Given the description of an element on the screen output the (x, y) to click on. 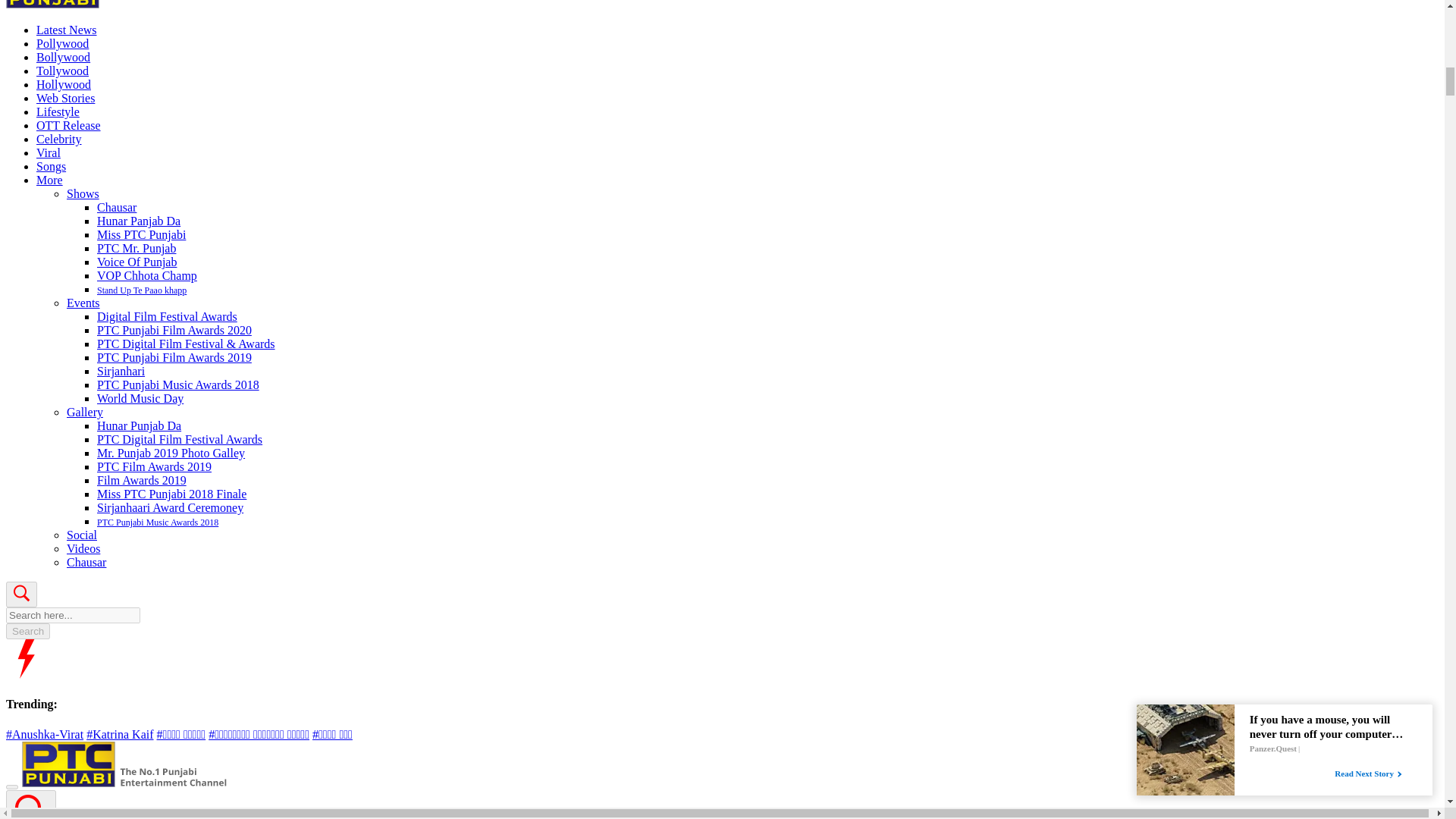
OTT Release (68, 124)
Celebrity (58, 138)
PTC Film Awards 2019 (154, 466)
Tollywood (62, 70)
Chausar (116, 206)
VOP Chhota Champ (146, 275)
World Music Day (140, 398)
More (49, 179)
PTC Punjabi Music Awards 2018 (178, 384)
Bollywood (63, 56)
Hunar Panjab Da (138, 220)
Hollywood (63, 83)
Sirjanhari (120, 370)
Pollywood (62, 42)
Digital Film Festival Awards (167, 316)
